Given the description of an element on the screen output the (x, y) to click on. 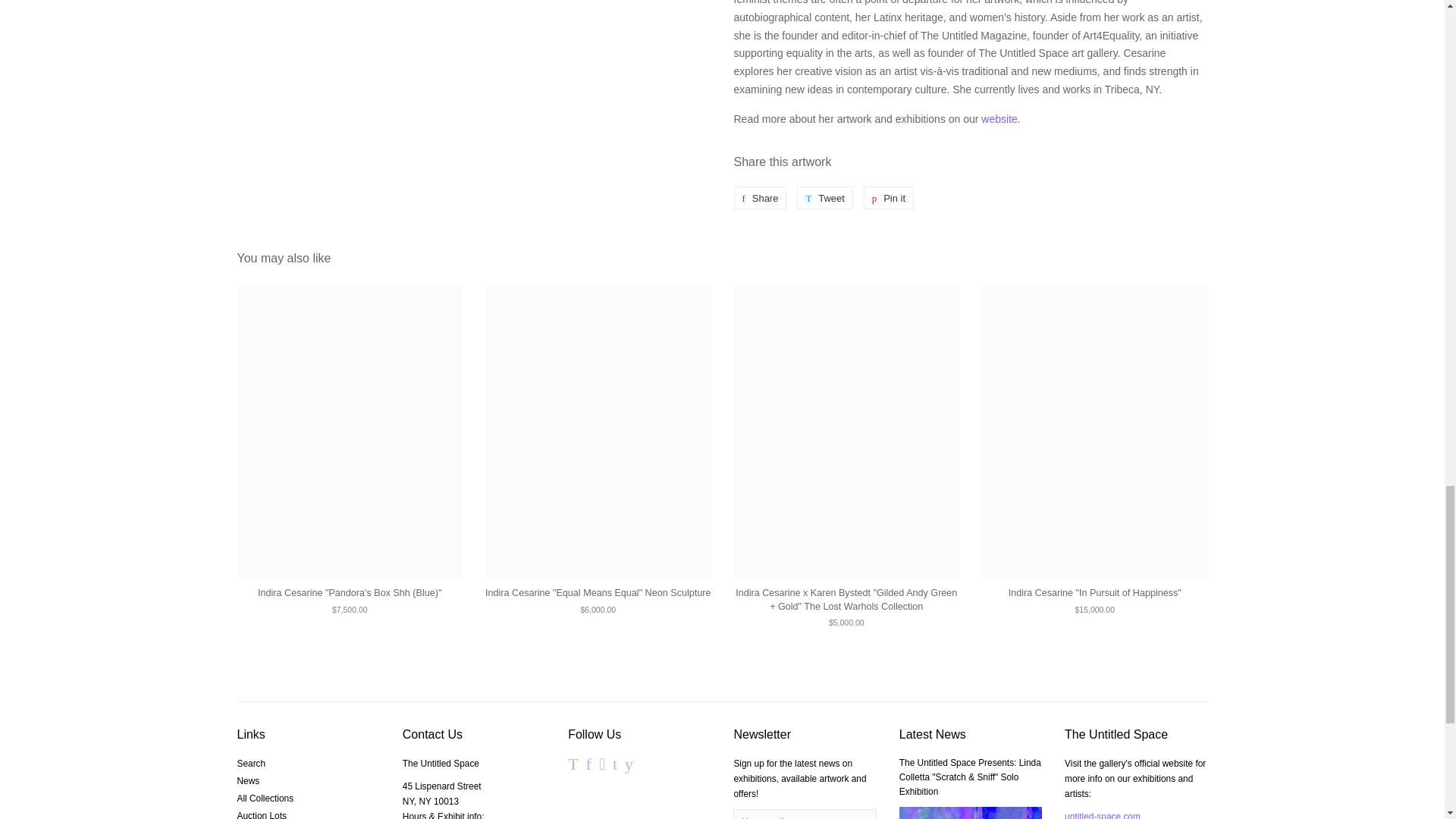
Share on Facebook (760, 197)
website (998, 119)
Tweet on Twitter (824, 197)
The Untitled Space on Facebook (824, 197)
The Untitled Space on Tumblr (588, 766)
Pin on Pinterest (614, 766)
The Untitled Space on YouTube (888, 197)
The Untitled Space on Twitter (760, 197)
The Untitled Space on Instagram (628, 766)
